Given the description of an element on the screen output the (x, y) to click on. 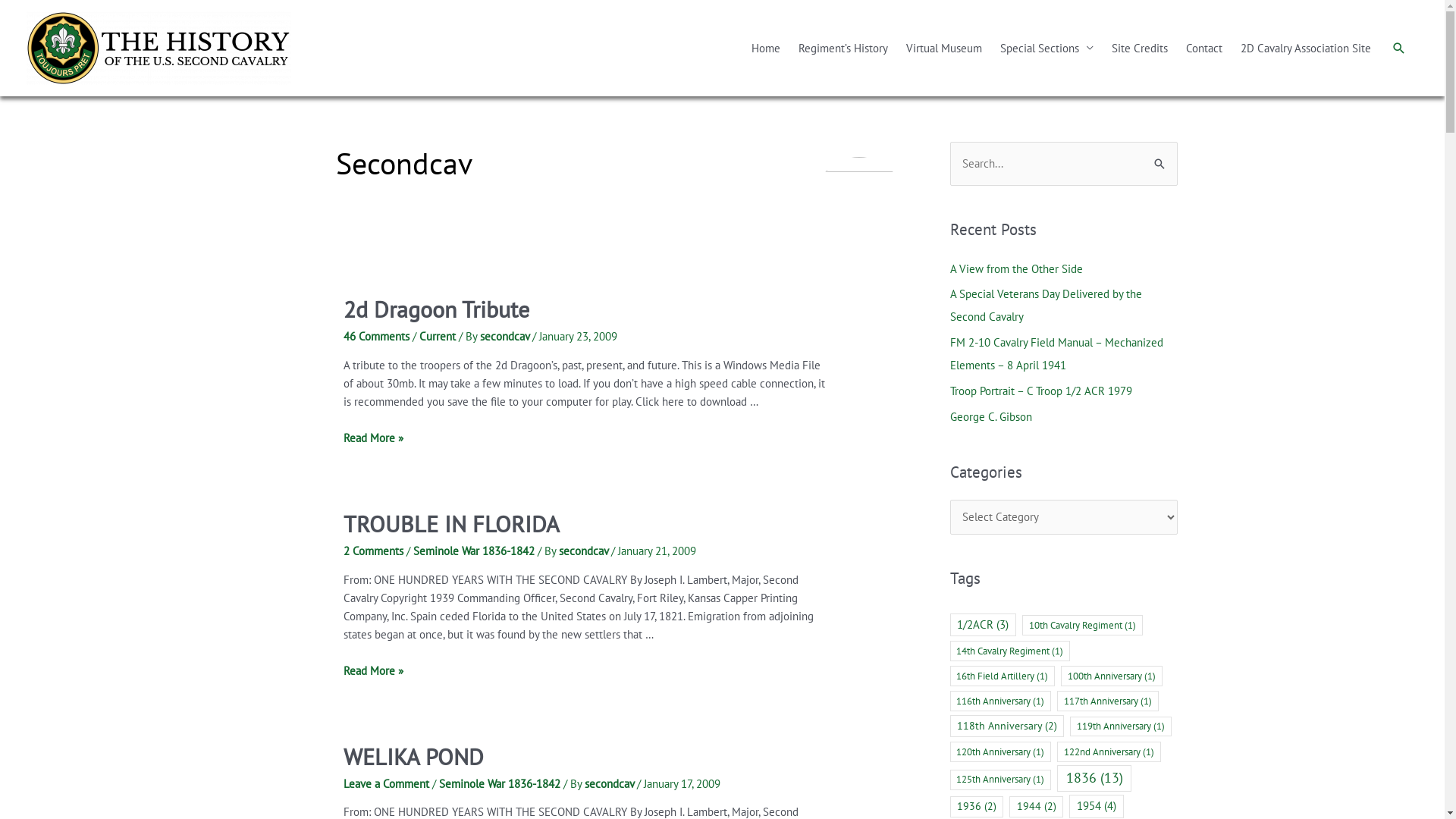
WELIKA POND Element type: text (413, 756)
100th Anniversary (1) Element type: text (1111, 675)
14th Cavalry Regiment (1) Element type: text (1009, 650)
1954 (4) Element type: text (1096, 806)
Seminole War 1836-1842 Element type: text (473, 550)
TROUBLE IN FLORIDA Element type: text (451, 523)
117th Anniversary (1) Element type: text (1107, 700)
A Special Veterans Day Delivered by the Second Cavalry Element type: text (1045, 304)
Search Element type: text (1398, 48)
2D Cavalry Association Site Element type: text (1305, 48)
125th Anniversary (1) Element type: text (1000, 779)
1/2ACR (3) Element type: text (982, 624)
1836 (13) Element type: text (1094, 778)
Special Sections Element type: text (1046, 48)
Site Credits Element type: text (1139, 48)
secondcav Element type: text (584, 550)
1936 (2) Element type: text (976, 807)
1944 (2) Element type: text (1036, 807)
2d Dragoon Tribute Element type: text (436, 308)
secondcav Element type: text (610, 783)
secondcav Element type: text (506, 336)
116th Anniversary (1) Element type: text (1000, 700)
George C. Gibson Element type: text (990, 416)
16th Field Artillery (1) Element type: text (1001, 675)
Leave a Comment Element type: text (386, 783)
A View from the Other Side Element type: text (1015, 267)
Current Element type: text (437, 336)
Seminole War 1836-1842 Element type: text (499, 783)
Home Element type: text (765, 48)
122nd Anniversary (1) Element type: text (1109, 751)
Contact Element type: text (1203, 48)
46 Comments Element type: text (376, 336)
2 Comments Element type: text (373, 550)
118th Anniversary (2) Element type: text (1006, 726)
120th Anniversary (1) Element type: text (1000, 751)
10th Cavalry Regiment (1) Element type: text (1082, 625)
Virtual Museum Element type: text (944, 48)
119th Anniversary (1) Element type: text (1120, 726)
Search Element type: text (1160, 156)
